Given the description of an element on the screen output the (x, y) to click on. 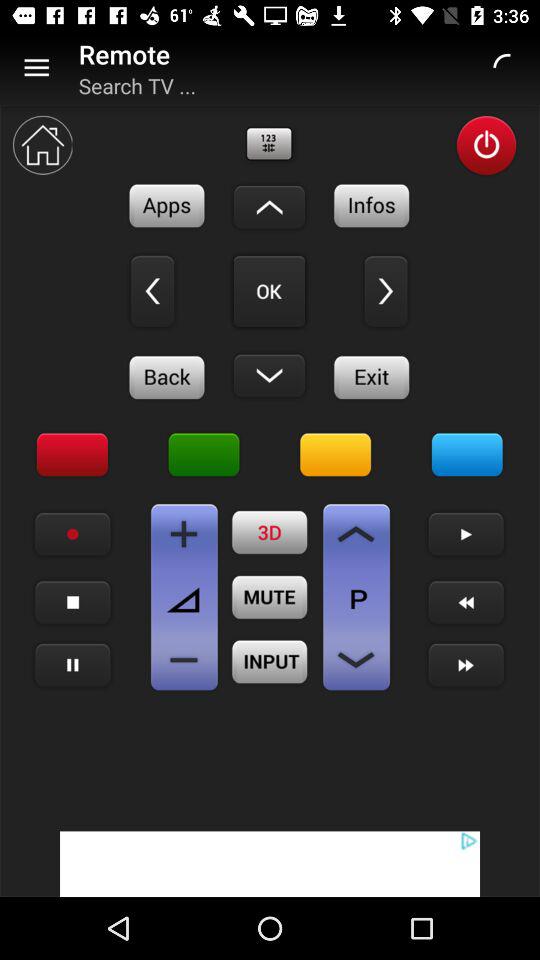
menu bar (72, 602)
